Given the description of an element on the screen output the (x, y) to click on. 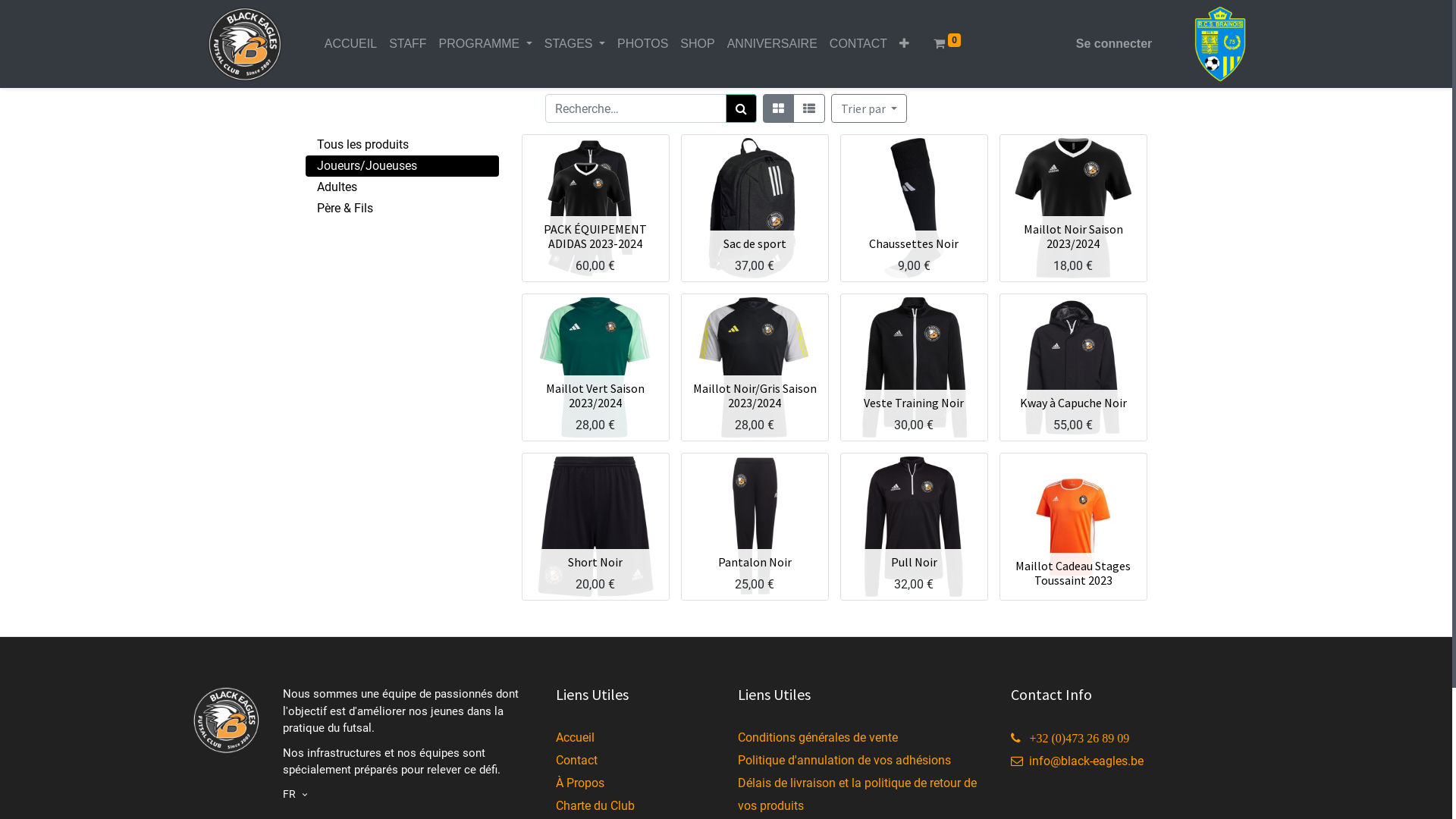
Panier Element type: hover (1088, 386)
Veste Training Noir Element type: text (913, 402)
RCS Brainois Element type: hover (1219, 43)
Panier Element type: hover (1088, 549)
STAFF Element type: text (407, 43)
Tarifs Element type: hover (777, 108)
Maillot Cadeau Stages Toussaint 2023 Element type: text (1072, 572)
Trier par Element type: text (868, 108)
Pull Noir Element type: text (913, 561)
Tous les produits Element type: text (401, 144)
Maillot Noir/Gris Saison 2023/2024 Element type: text (754, 395)
Adultes Element type: text (401, 186)
Panier Element type: hover (610, 371)
Panier Element type: hover (610, 212)
FR Element type: text (295, 793)
Joueurs/Joueuses Element type: text (401, 165)
Short Noir Element type: text (594, 561)
PROGRAMME Element type: text (485, 43)
info@black-eagles.be Element type: text (1076, 760)
CONTACT Element type: text (858, 43)
Sac de sport Element type: text (754, 243)
+32 (0)473 26 89 09 Element type: text (1069, 738)
BlackEagles Element type: hover (243, 43)
Panier Element type: hover (928, 545)
Contact Element type: text (575, 760)
Panier Element type: hover (928, 386)
Chaussettes Noir Element type: text (913, 243)
PHOTOS Element type: text (642, 43)
Panier Element type: hover (769, 371)
Panier Element type: hover (769, 227)
Maillot Vert Saison 2023/2024 Element type: text (595, 395)
Panier Element type: hover (1088, 212)
Maillot Noir Saison 2023/2024 Element type: text (1073, 236)
0 Element type: text (946, 43)
Charte du Club Element type: text (594, 805)
Panier Element type: hover (928, 227)
Panier Element type: hover (769, 545)
SHOP Element type: text (697, 43)
Liste Element type: hover (809, 108)
Se connecter Element type: text (1113, 43)
ACCUEIL Element type: text (350, 43)
Rechercher Element type: hover (740, 108)
ANNIVERSAIRE Element type: text (772, 43)
STAGES Element type: text (574, 43)
Pantalon Noir Element type: text (753, 561)
Accueil Element type: text (574, 737)
Panier Element type: hover (610, 545)
